Given the description of an element on the screen output the (x, y) to click on. 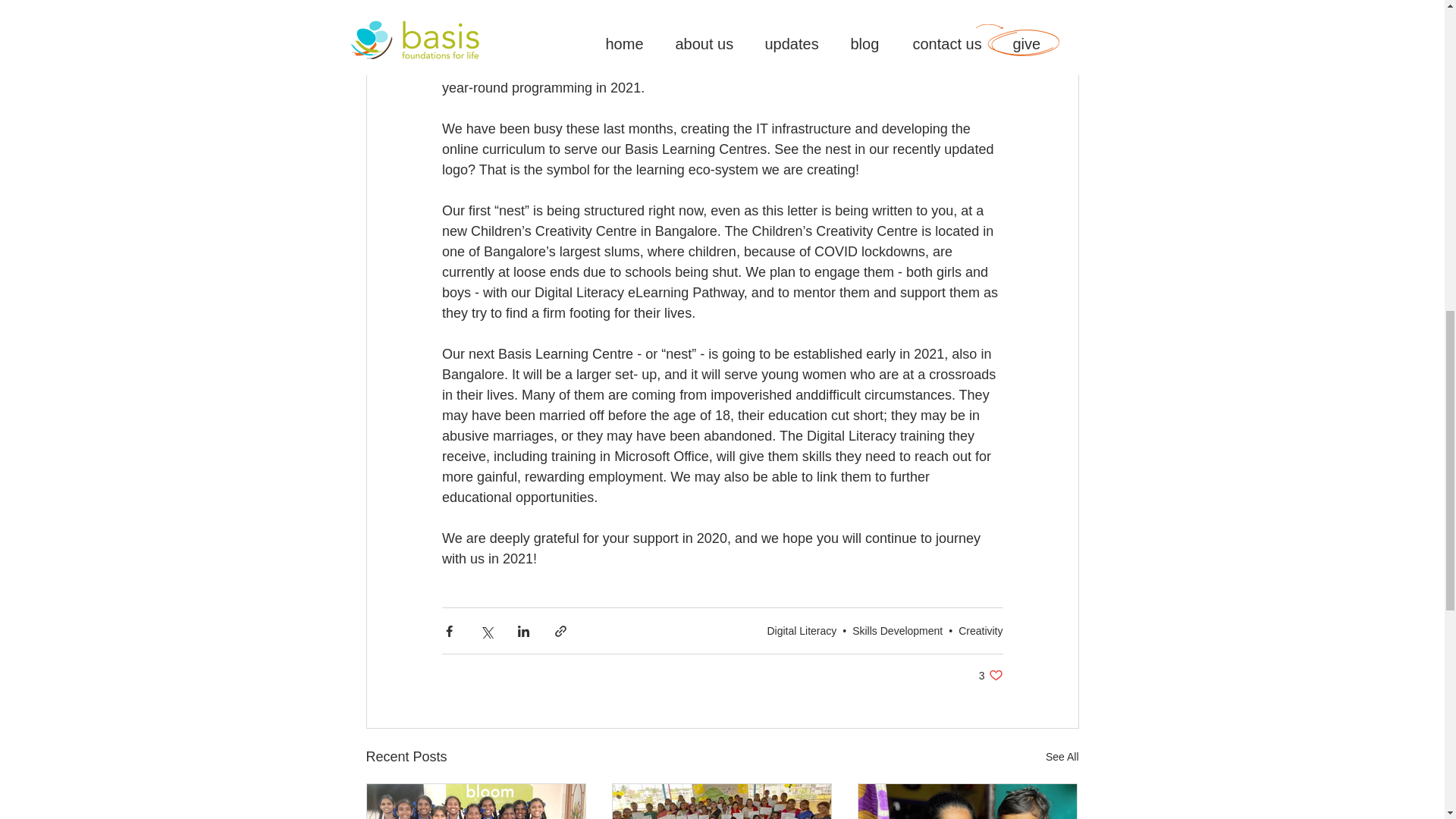
Digital Literacy (801, 630)
Skills Development (896, 630)
Creativity (980, 630)
See All (1061, 757)
